Given the description of an element on the screen output the (x, y) to click on. 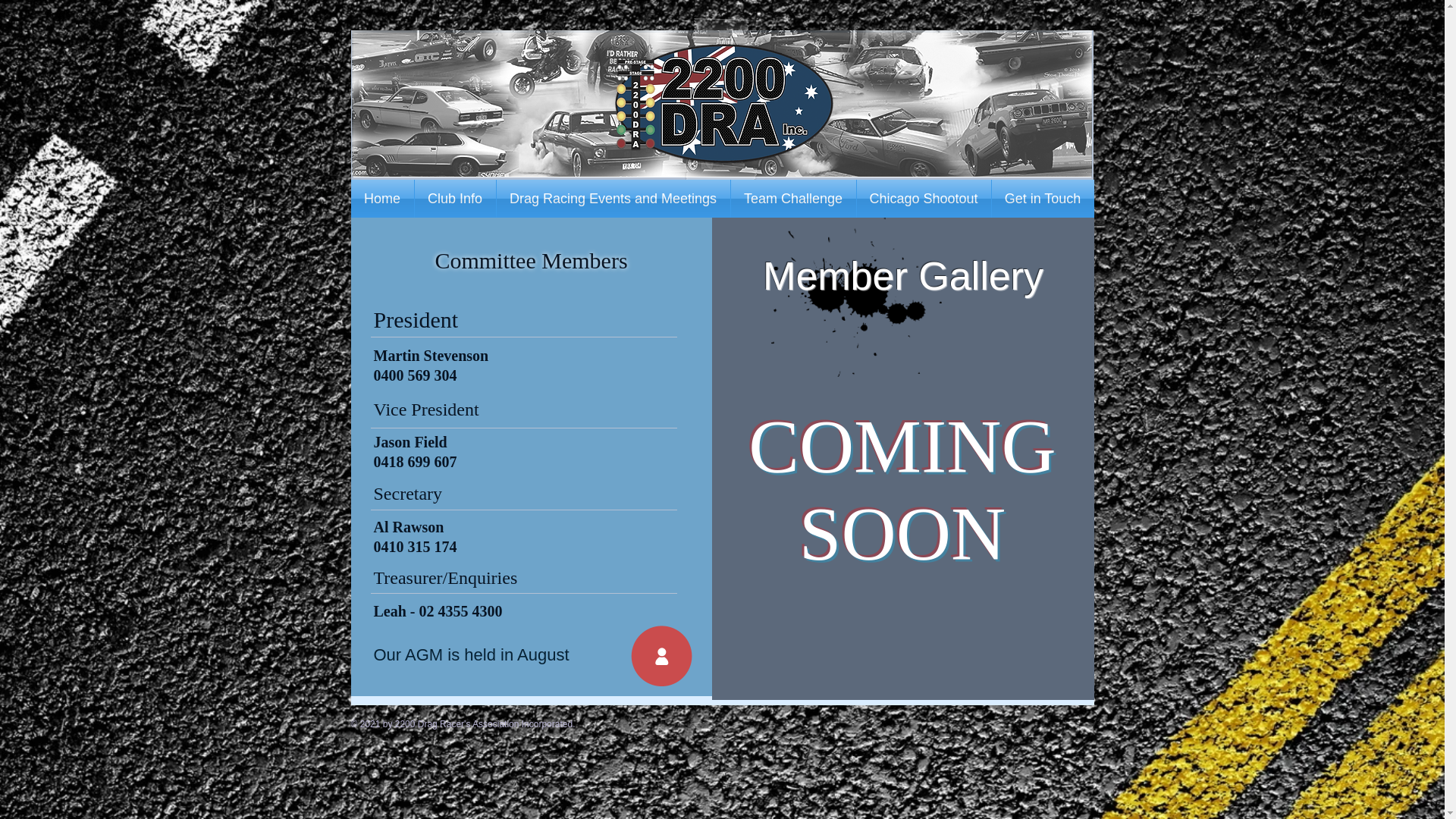
logo_small.png Element type: hover (723, 103)
Drag Racing Events and Meetings Element type: text (612, 198)
Get in Touch Element type: text (1042, 198)
Home Element type: text (381, 198)
mashup-web-site-header2.png Element type: hover (721, 103)
